Given the description of an element on the screen output the (x, y) to click on. 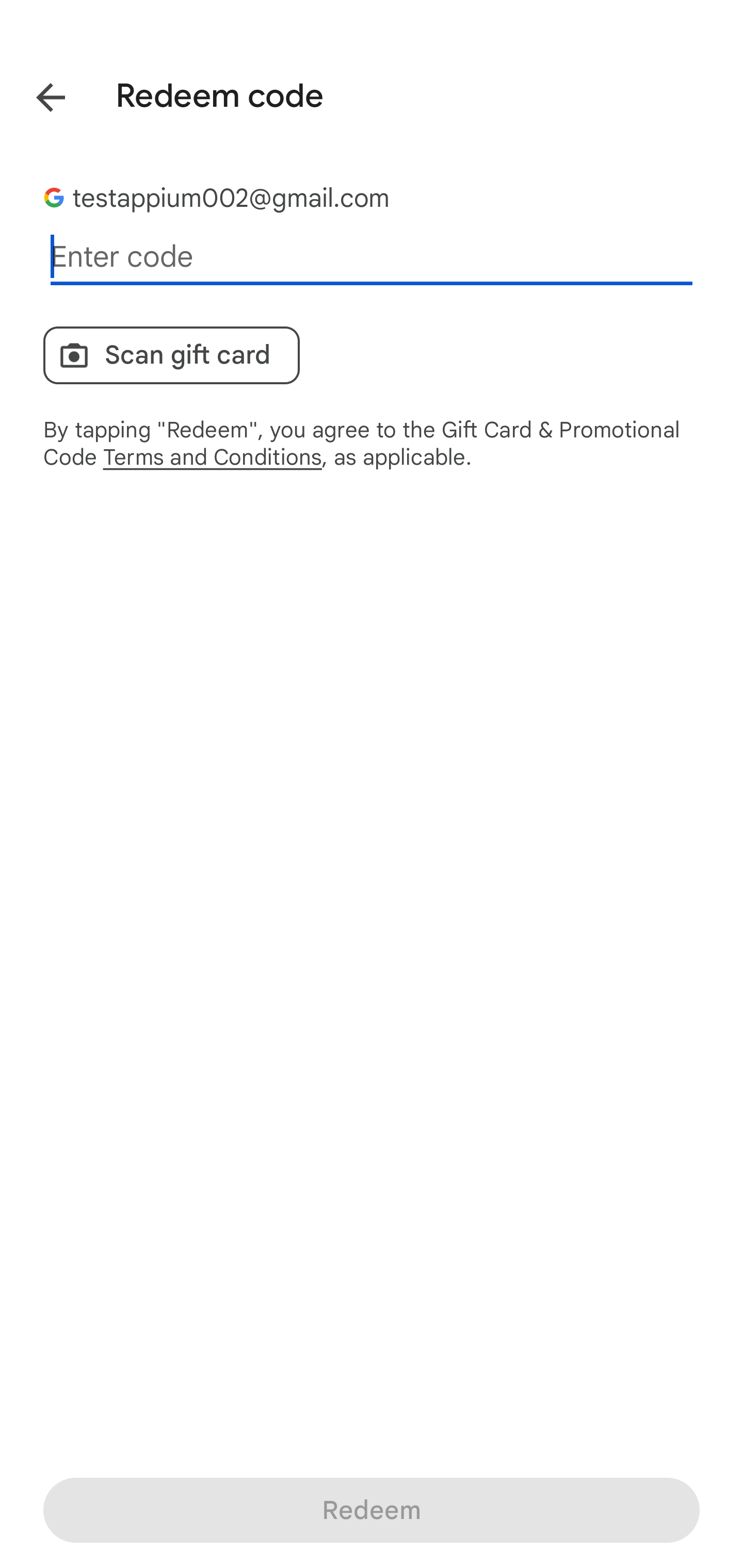
Back (36, 94)
Enter code (371, 256)
Scan gift card (171, 355)
